Given the description of an element on the screen output the (x, y) to click on. 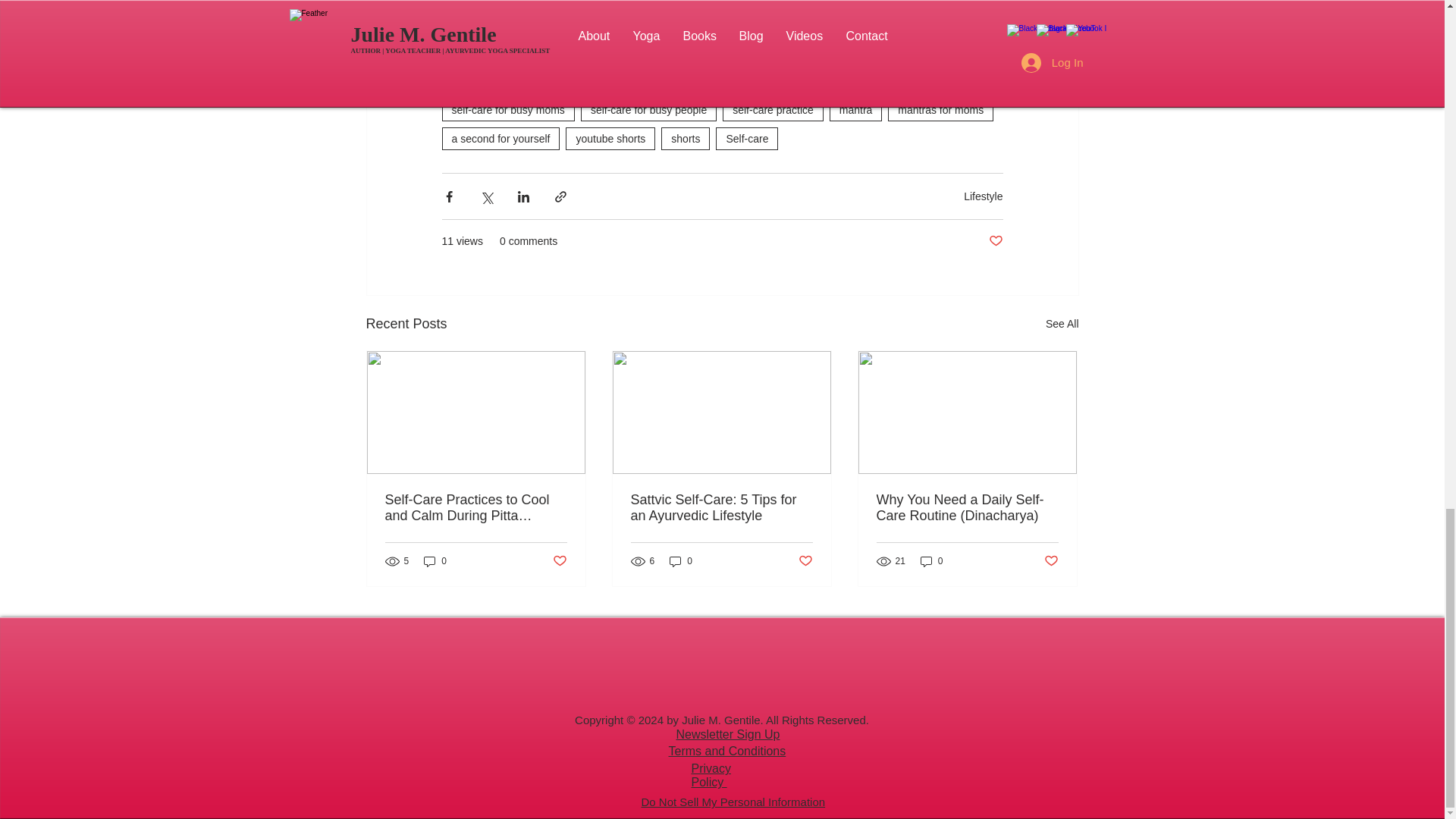
Self-care (746, 138)
mantra (855, 109)
self-care for busy people (648, 109)
a second for yourself (500, 138)
Lifestyle (983, 196)
youtube shorts (610, 138)
See All (1061, 323)
Post not marked as liked (995, 241)
self-care for busy moms (507, 109)
this YouTube video (578, 58)
mantras for moms (940, 109)
shorts (685, 138)
self-care practice (773, 109)
